Given the description of an element on the screen output the (x, y) to click on. 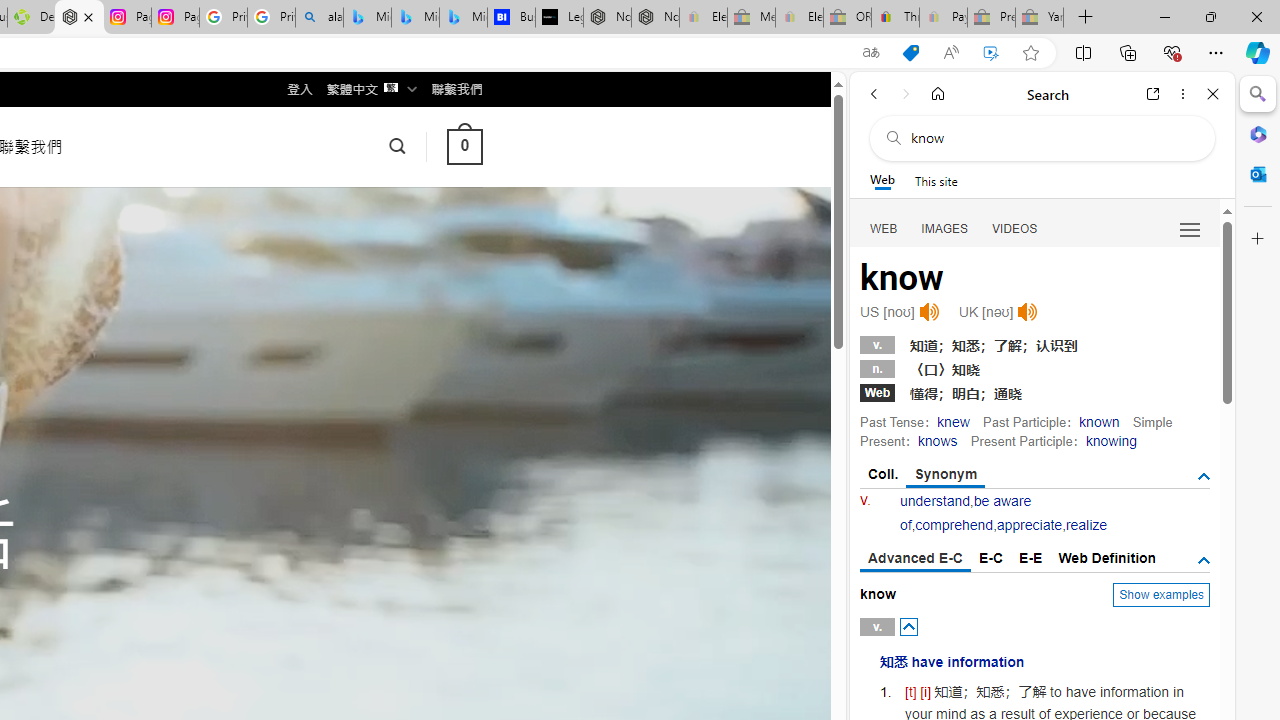
Threats and offensive language policy | eBay (895, 17)
Preferences (1189, 228)
known (1099, 421)
Enhance video (991, 53)
understand (935, 501)
AutomationID: tgdef (1203, 561)
realize (1086, 524)
Class: b_serphb (1190, 229)
